Given the description of an element on the screen output the (x, y) to click on. 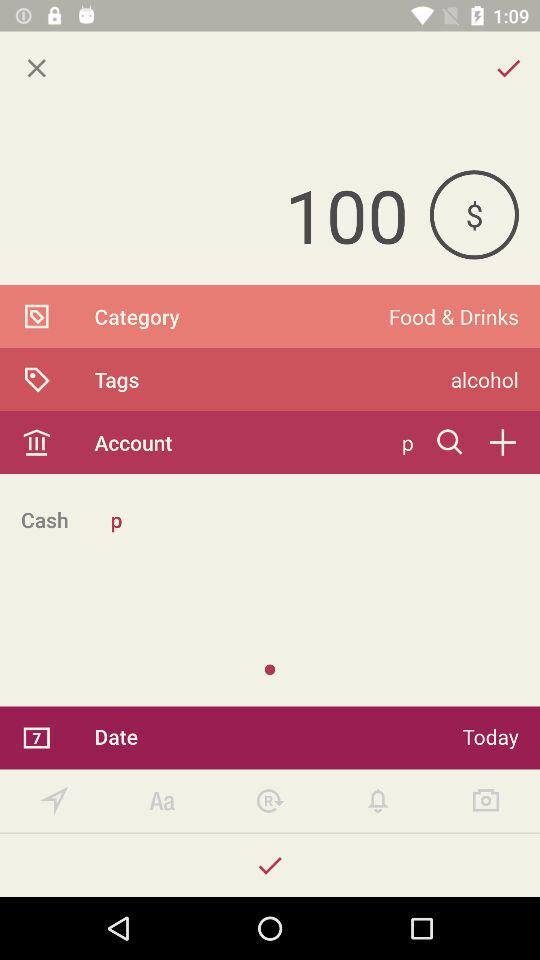
tap the app to the left of p (44, 519)
